Given the description of an element on the screen output the (x, y) to click on. 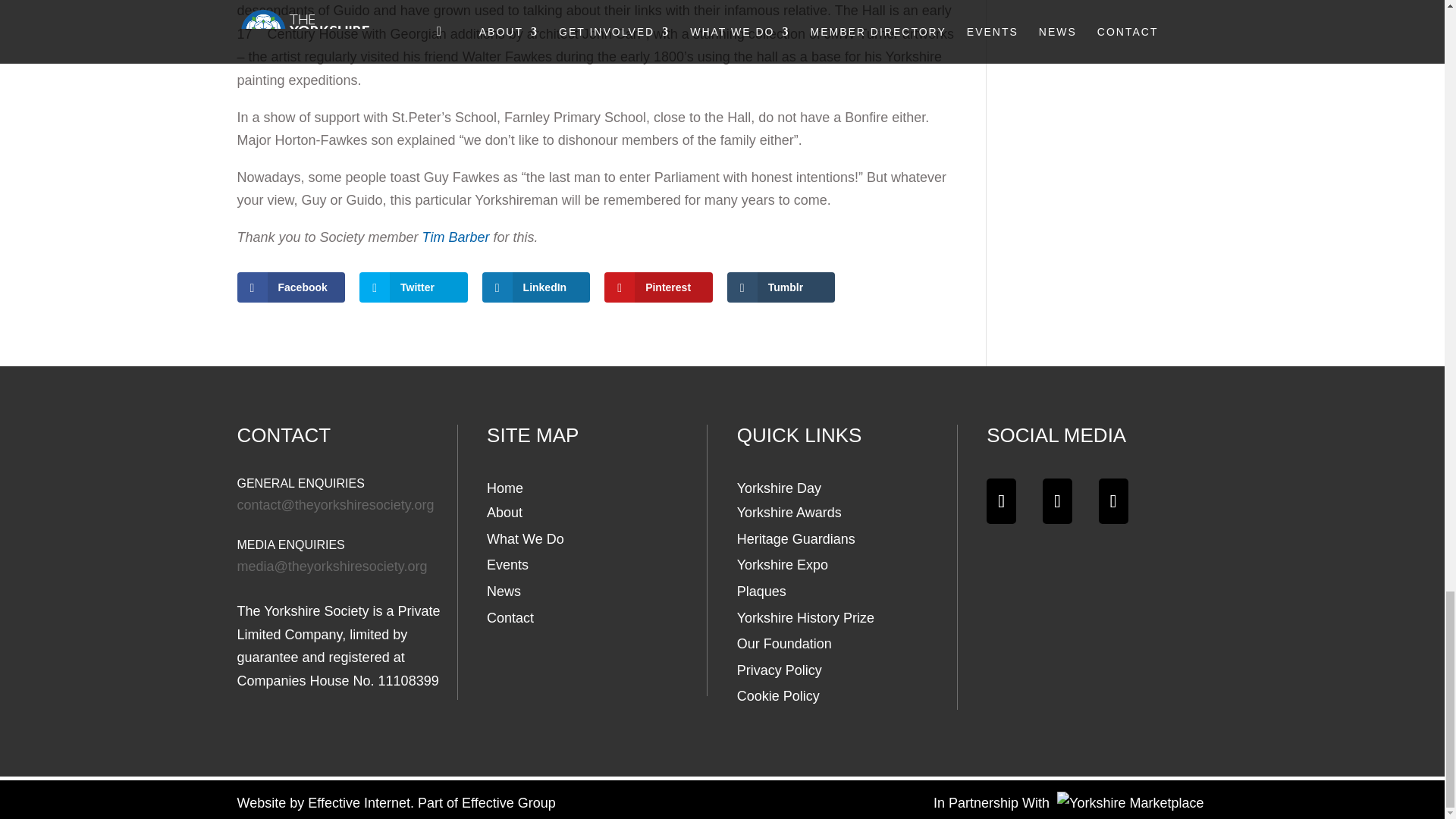
Tim Barber (455, 237)
Twitter (413, 286)
LinkedIn (536, 286)
Pinterest (658, 286)
Facebook (290, 286)
Tumblr (780, 286)
